Given the description of an element on the screen output the (x, y) to click on. 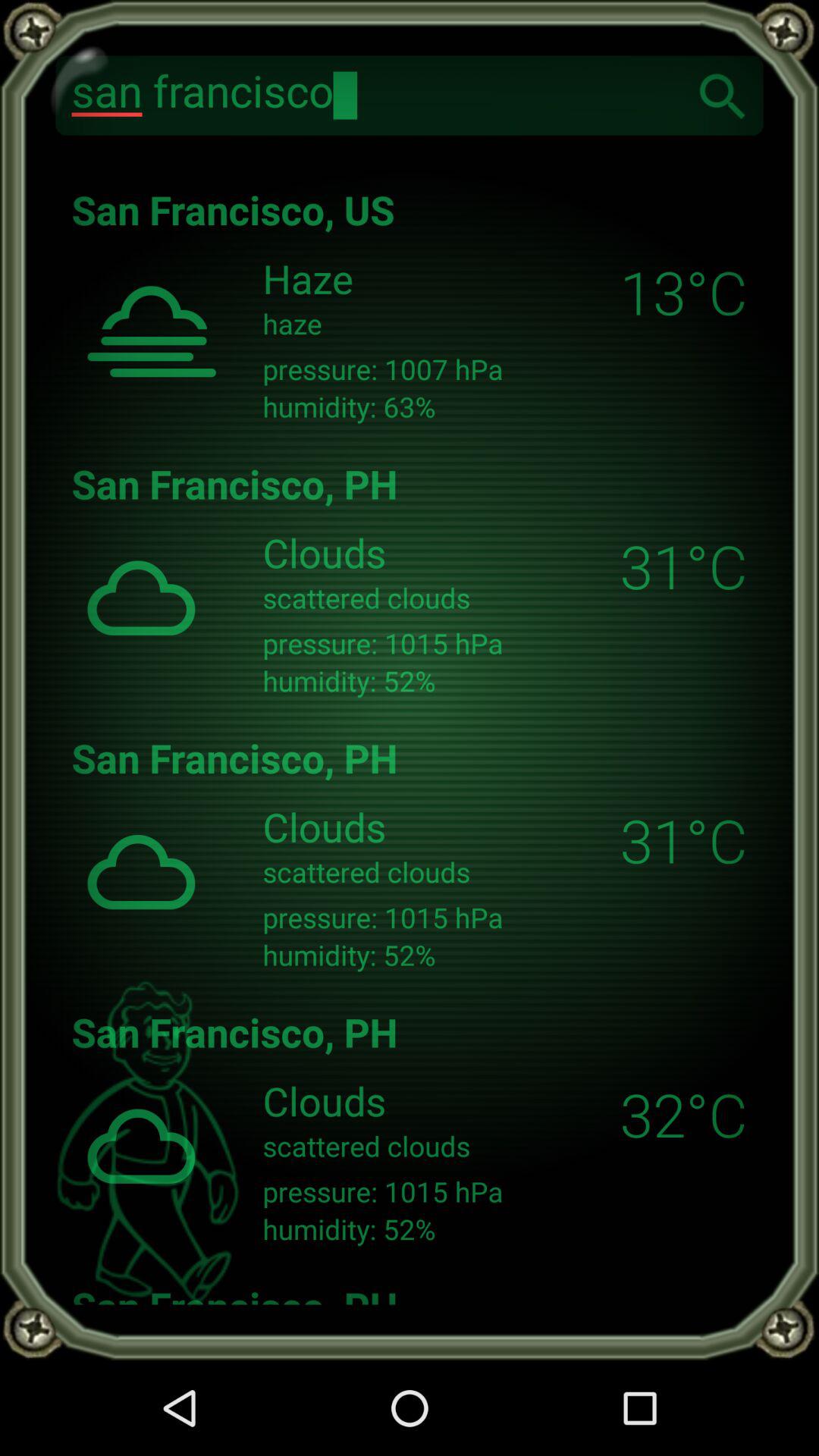
search (723, 95)
